Given the description of an element on the screen output the (x, y) to click on. 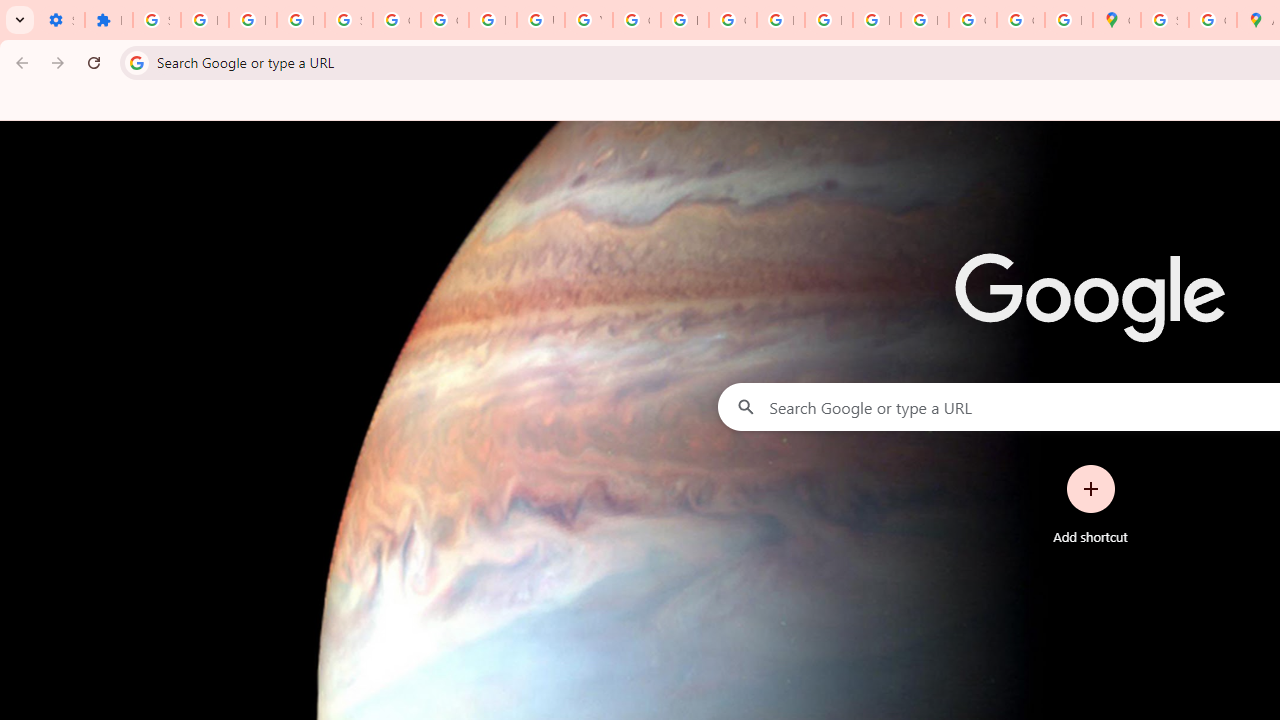
Google Account Help (396, 20)
Create your Google Account (1212, 20)
Google Account Help (444, 20)
Sign in - Google Accounts (156, 20)
Sign in - Google Accounts (1164, 20)
Delete photos & videos - Computer - Google Photos Help (204, 20)
Settings - On startup (60, 20)
